Given the description of an element on the screen output the (x, y) to click on. 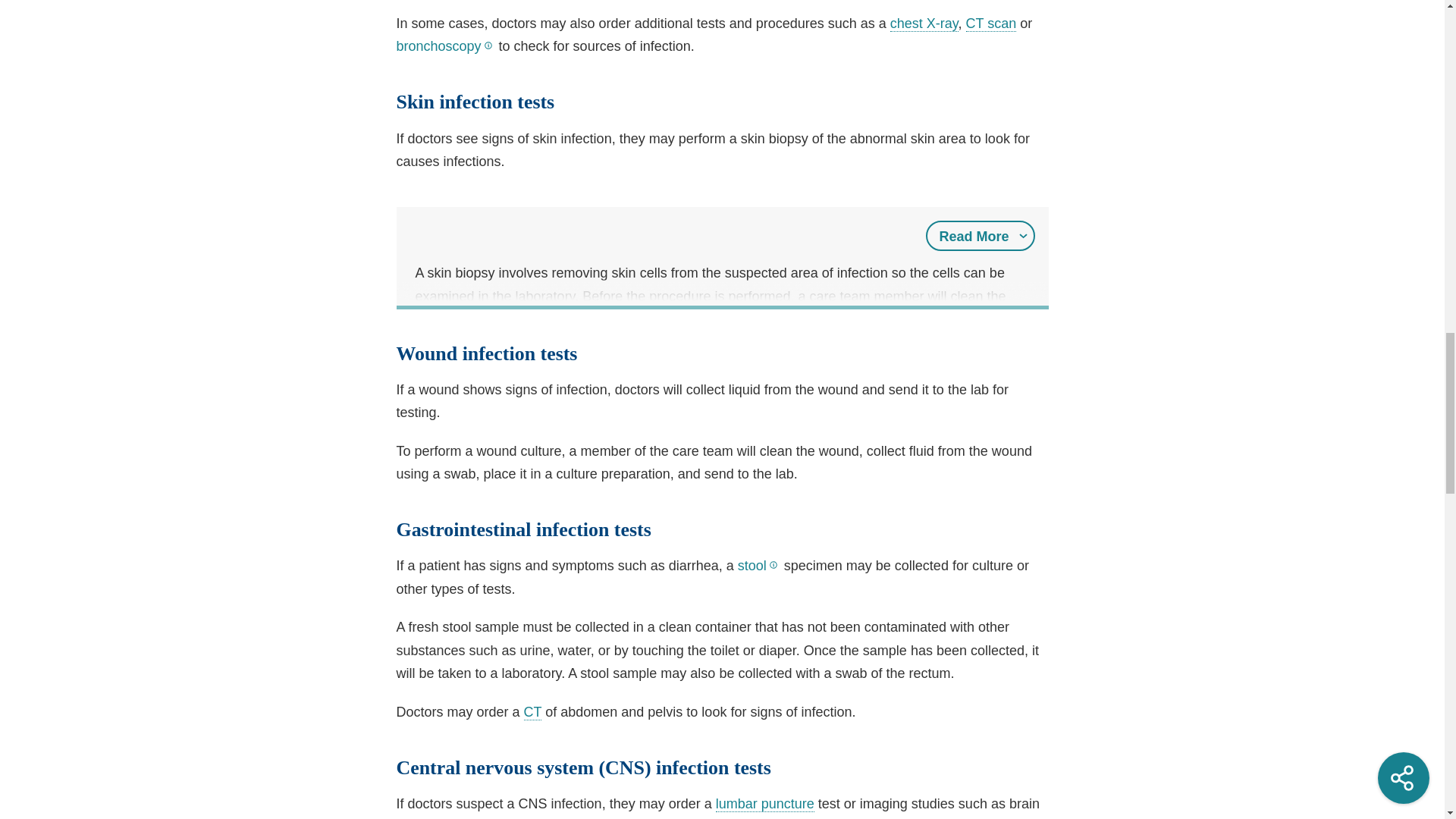
X-ray (923, 23)
CT scan (532, 712)
CT scan (991, 23)
Lumbar Puncture (764, 804)
